Given the description of an element on the screen output the (x, y) to click on. 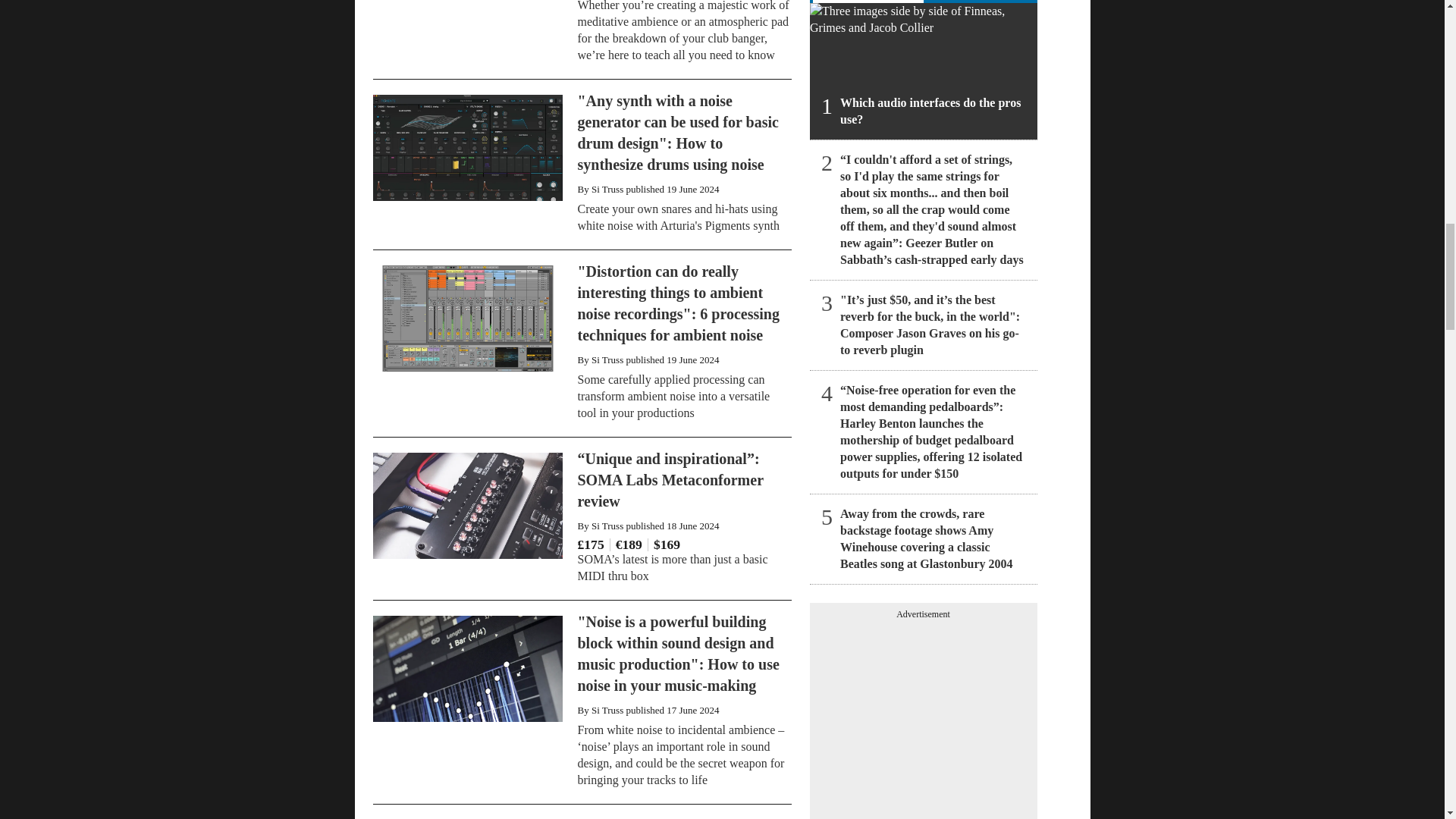
Which audio interfaces do the pros use? (922, 71)
